Given the description of an element on the screen output the (x, y) to click on. 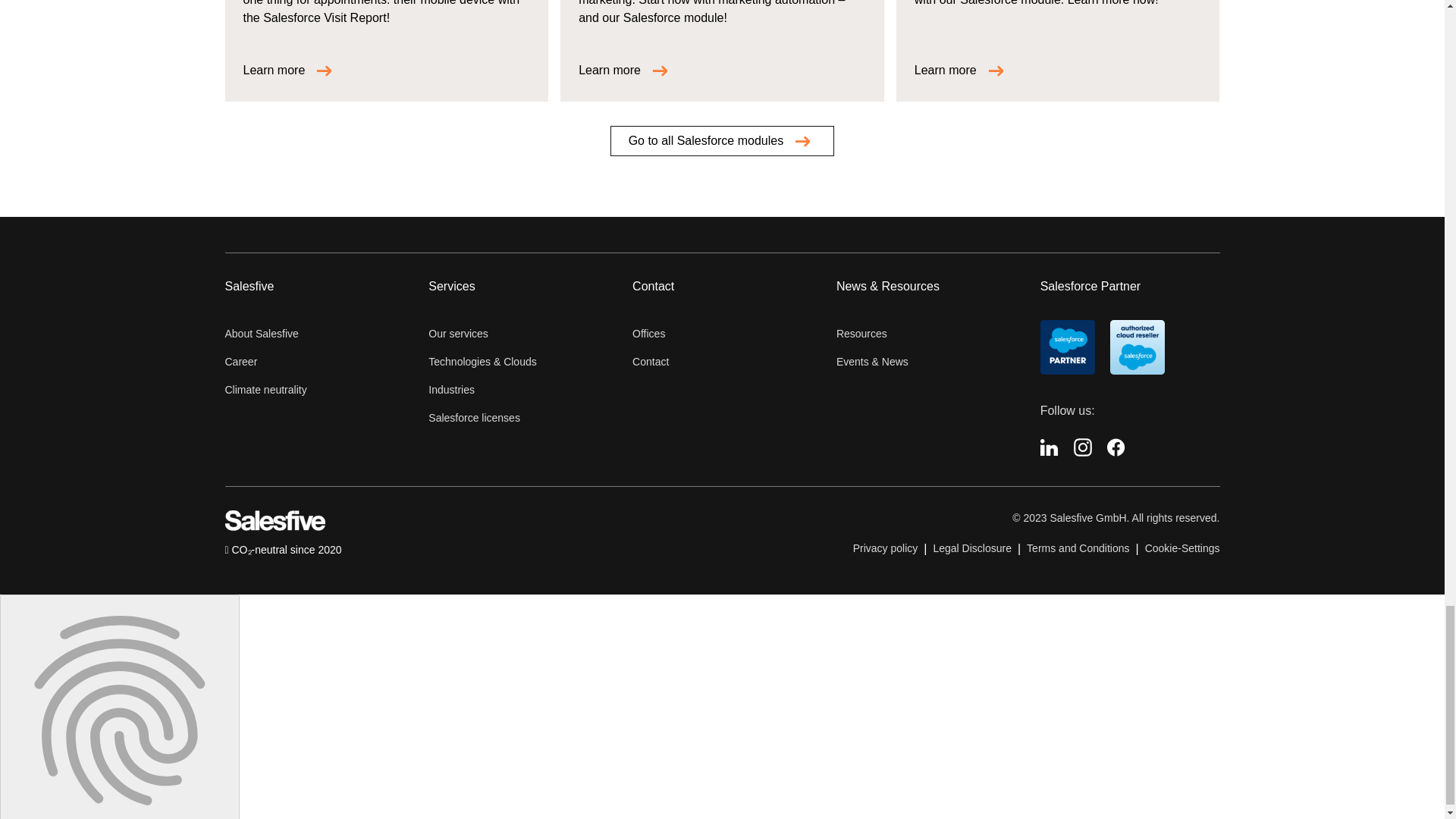
Salesfive (274, 526)
